Given the description of an element on the screen output the (x, y) to click on. 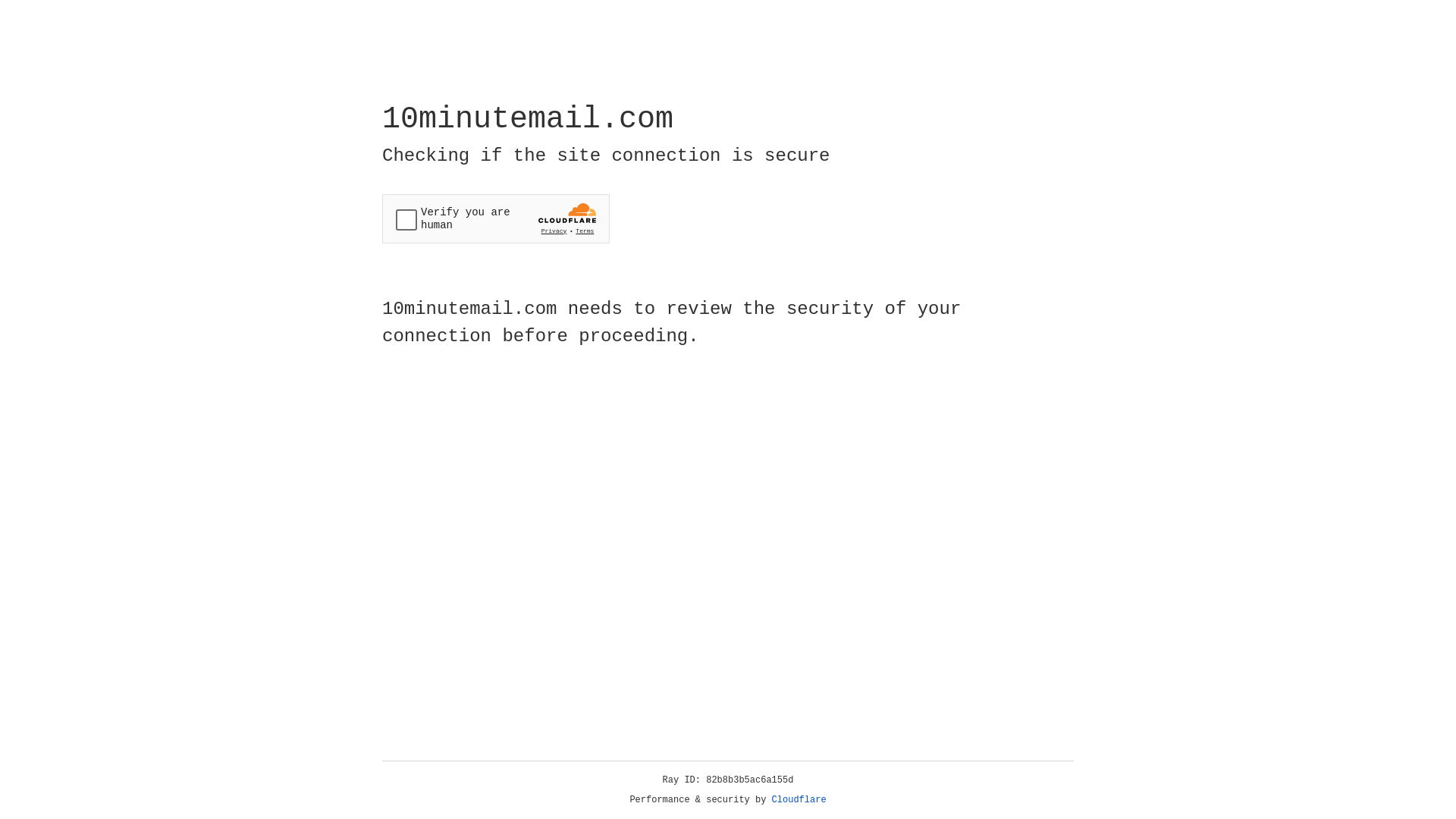
Cloudflare Element type: text (798, 799)
Widget containing a Cloudflare security challenge Element type: hover (495, 218)
